Given the description of an element on the screen output the (x, y) to click on. 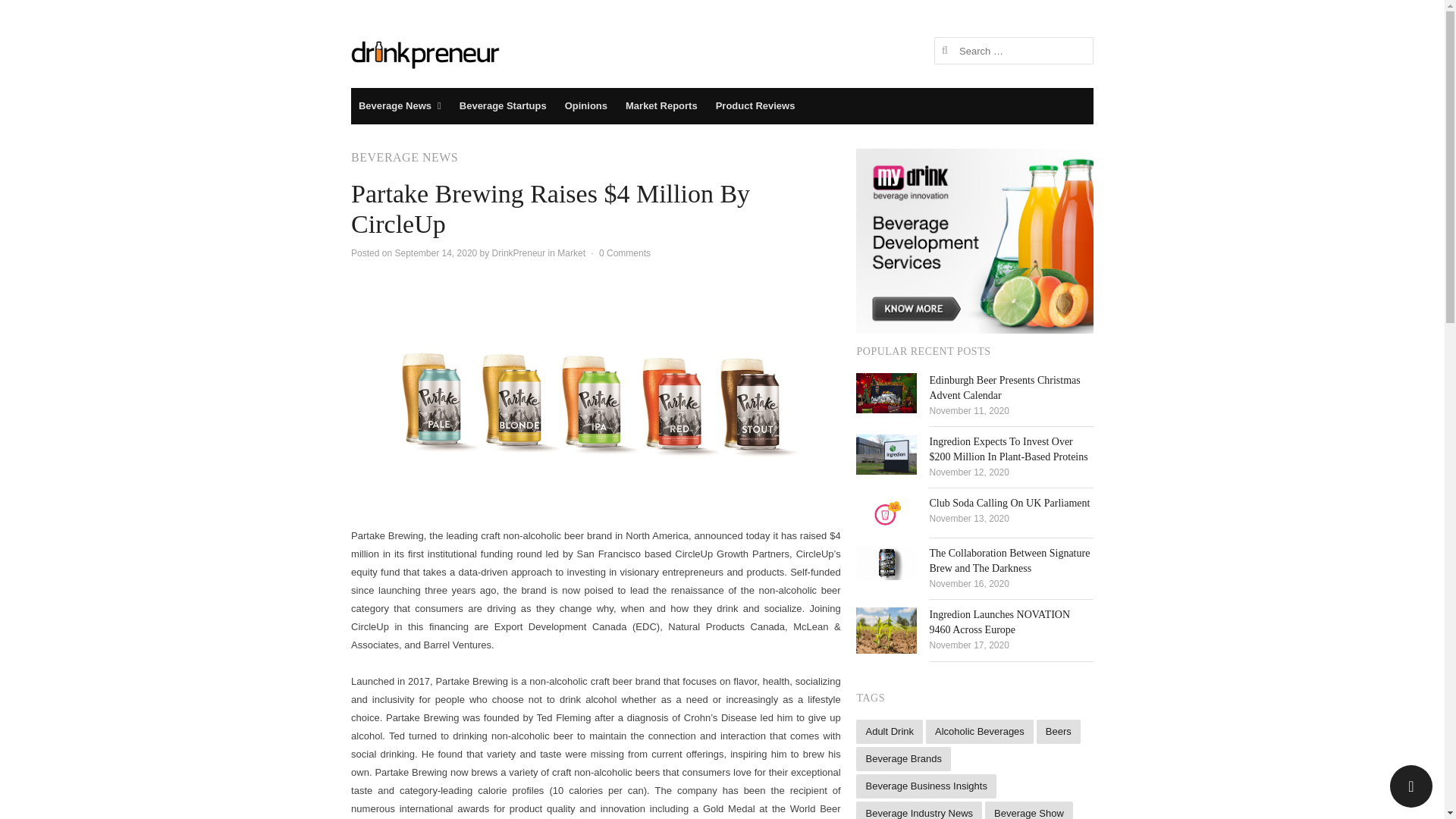
Market (571, 253)
Beverage News (399, 105)
DrinkPreneur (519, 253)
Market Reports (660, 105)
View all posts by DrinkPreneur (519, 253)
DrinkPreneur (424, 52)
September 14, 2020 (435, 253)
Edinburgh Beer Presents Christmas Advent Calendar (886, 393)
7:00 am (435, 253)
Edinburgh Beer Presents Christmas Advent Calendar (1004, 387)
